Given the description of an element on the screen output the (x, y) to click on. 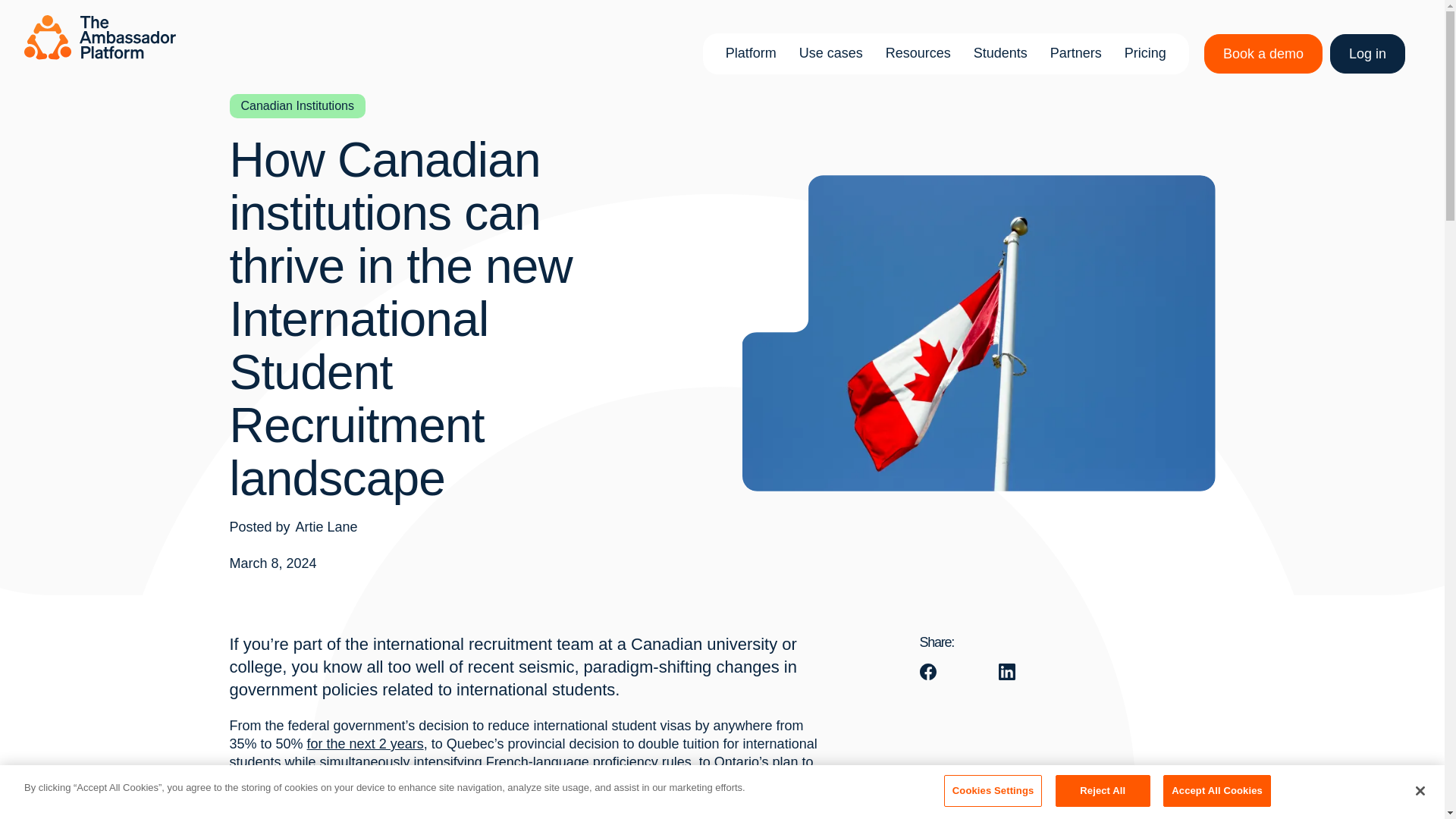
Resources (918, 53)
Partners (1075, 53)
guarantee housing for international students (473, 780)
Let's talk (906, 500)
French-language proficiency rules (588, 761)
Pricing (1145, 53)
for the next 2 years (365, 743)
Share to Facebook (927, 671)
Use cases (830, 53)
Share to Linkedin (1005, 671)
Log in (1367, 53)
Platform (751, 53)
Students (999, 53)
Share to X (966, 671)
